Given the description of an element on the screen output the (x, y) to click on. 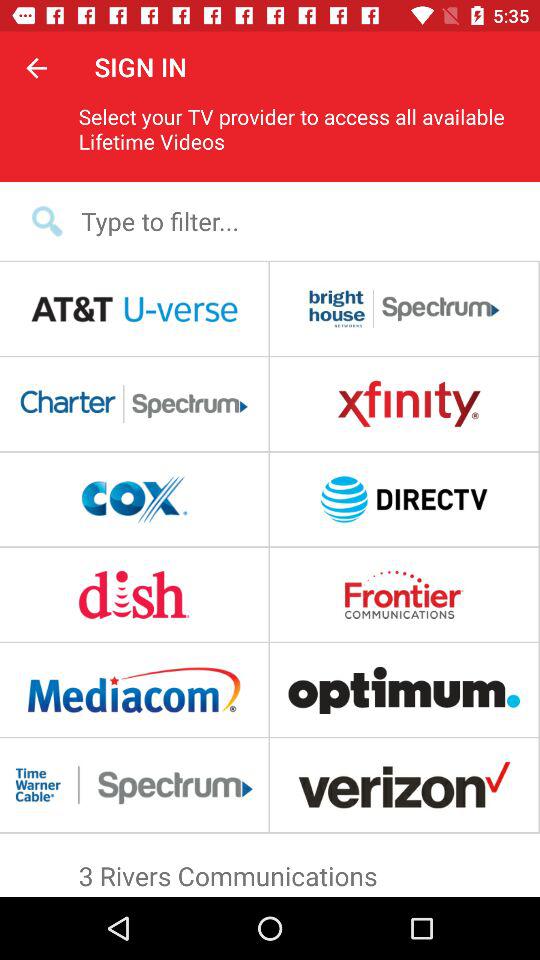
tap the item above 3 rivers communications (270, 839)
